Given the description of an element on the screen output the (x, y) to click on. 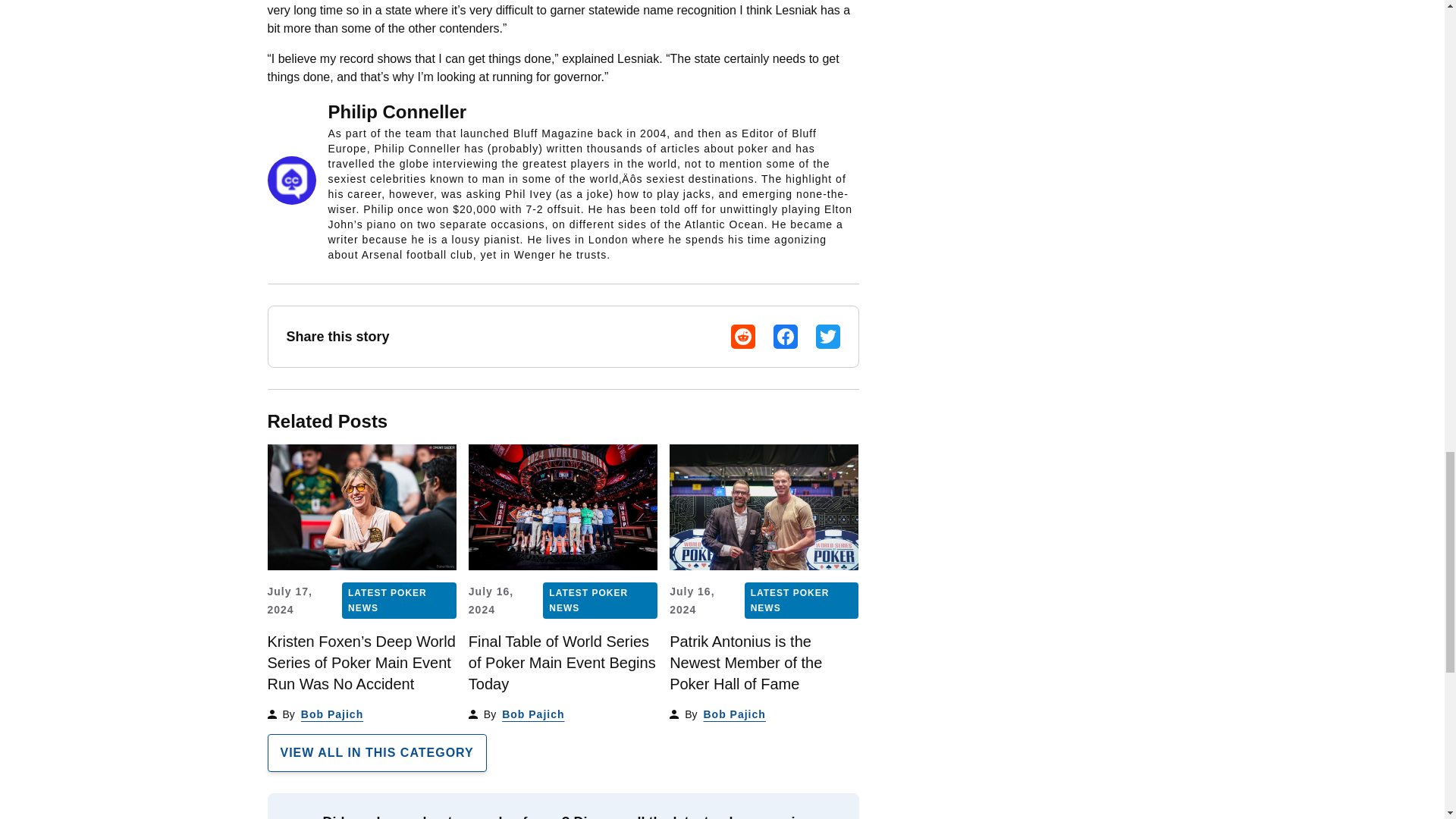
Share on Reddit (742, 336)
Share on Twitter (827, 336)
Share on Facebook (785, 336)
